Given the description of an element on the screen output the (x, y) to click on. 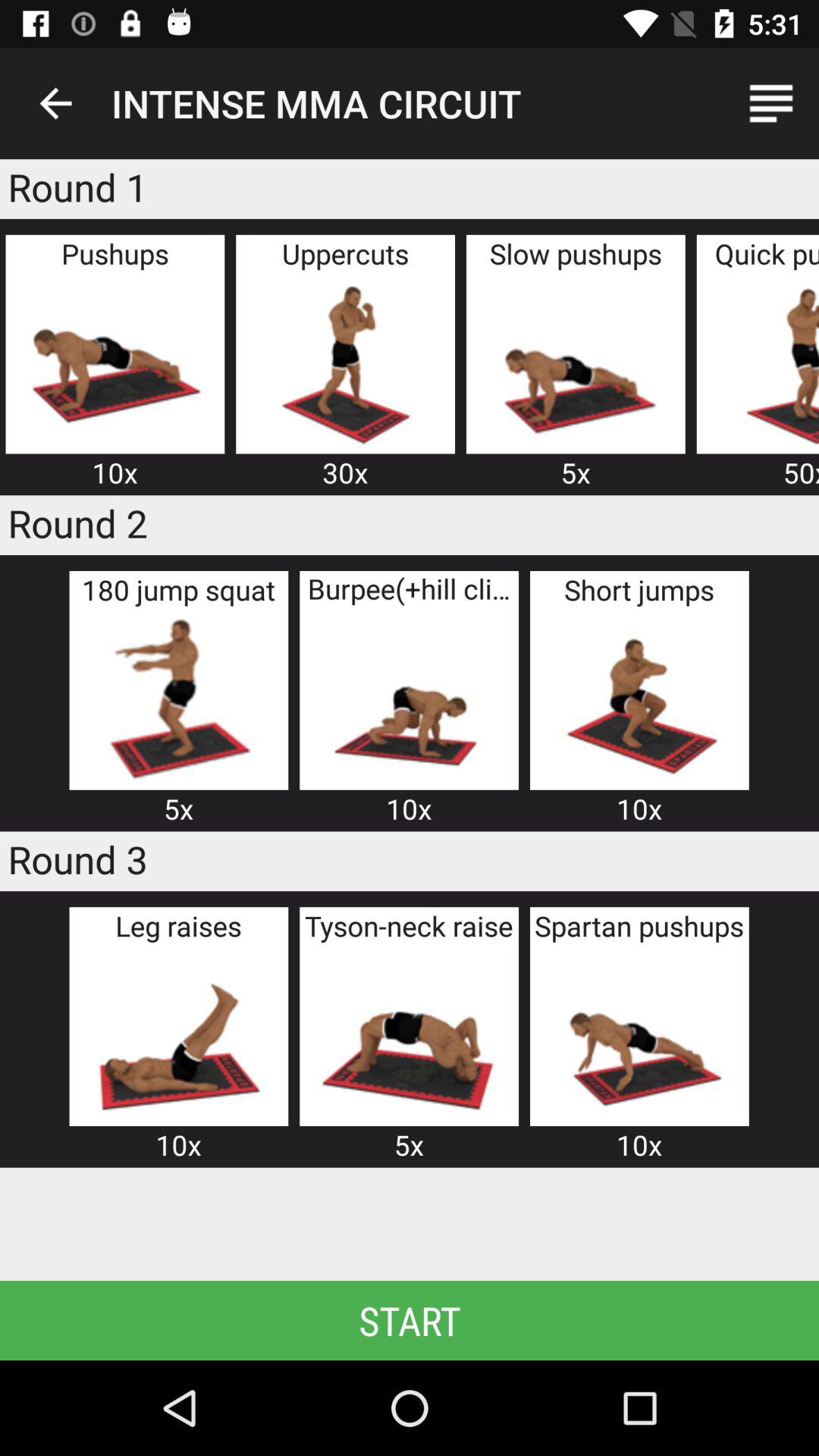
there are 3 rounds in which they are trying to explain the way of doing exercises in 3 rounds (178, 1034)
